Given the description of an element on the screen output the (x, y) to click on. 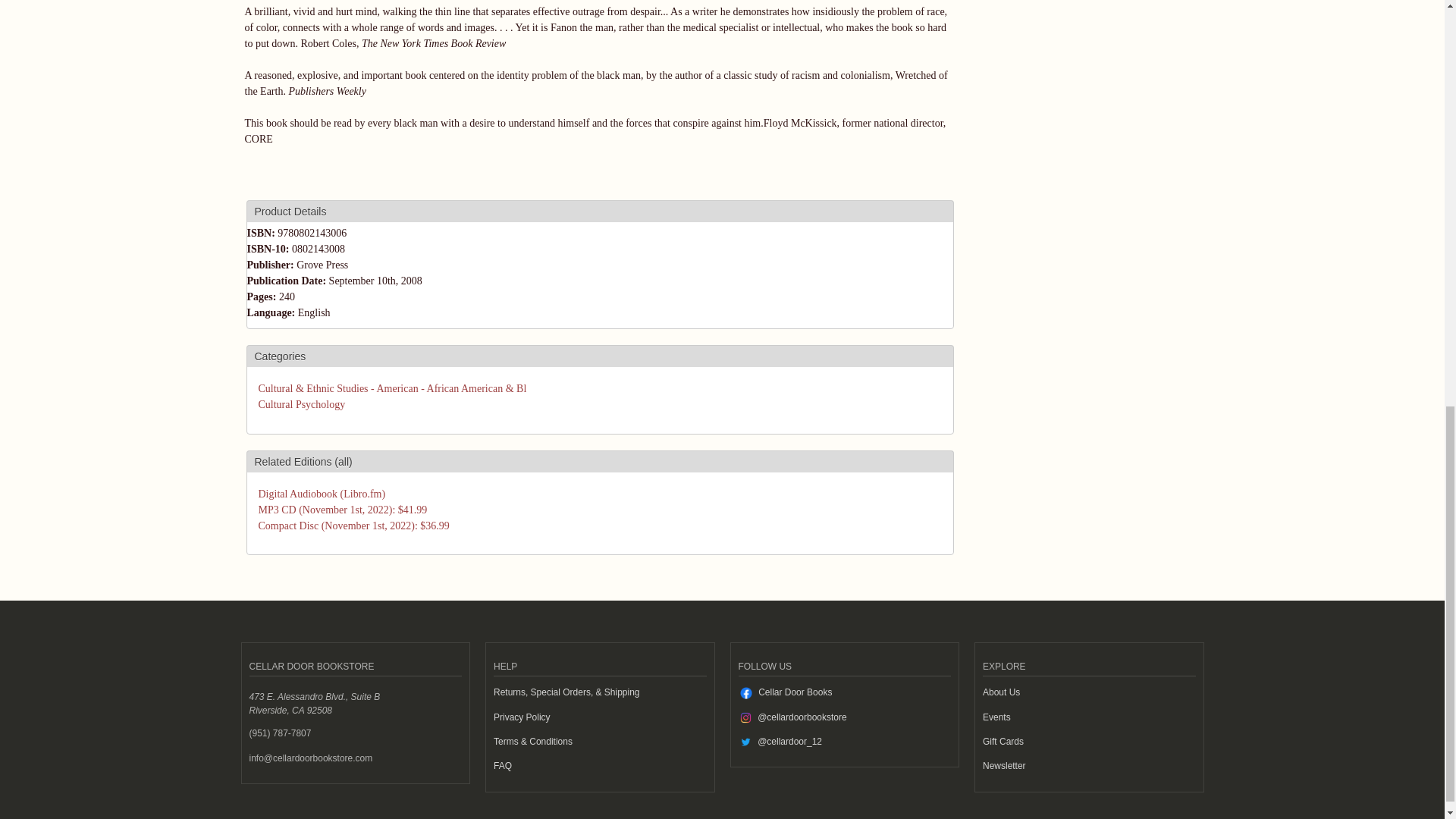
FAQ (502, 765)
Privacy Policy (521, 716)
Cultural Psychology (301, 404)
Cellar Door Books (794, 692)
